Given the description of an element on the screen output the (x, y) to click on. 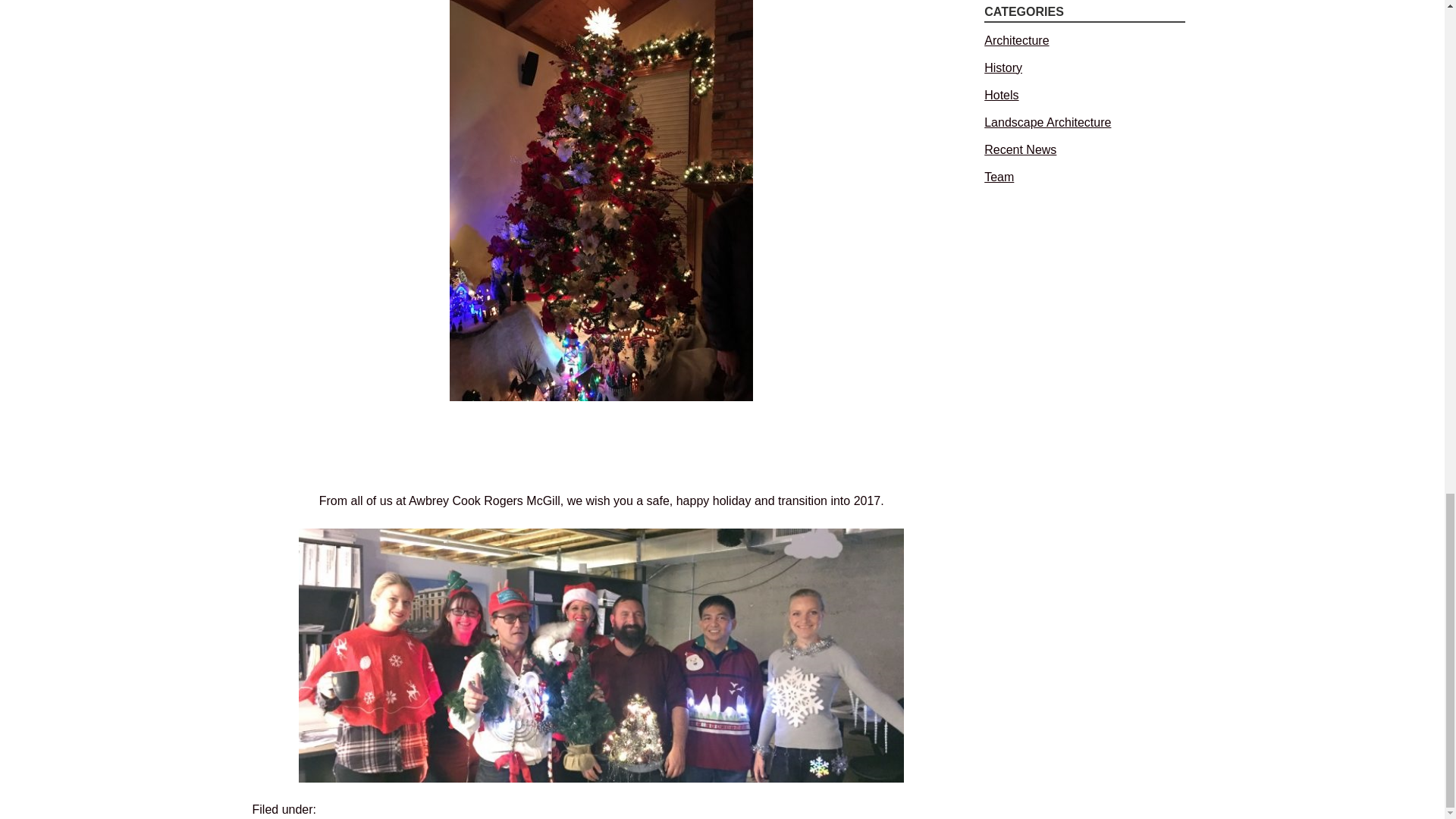
Recent News (354, 809)
